Given the description of an element on the screen output the (x, y) to click on. 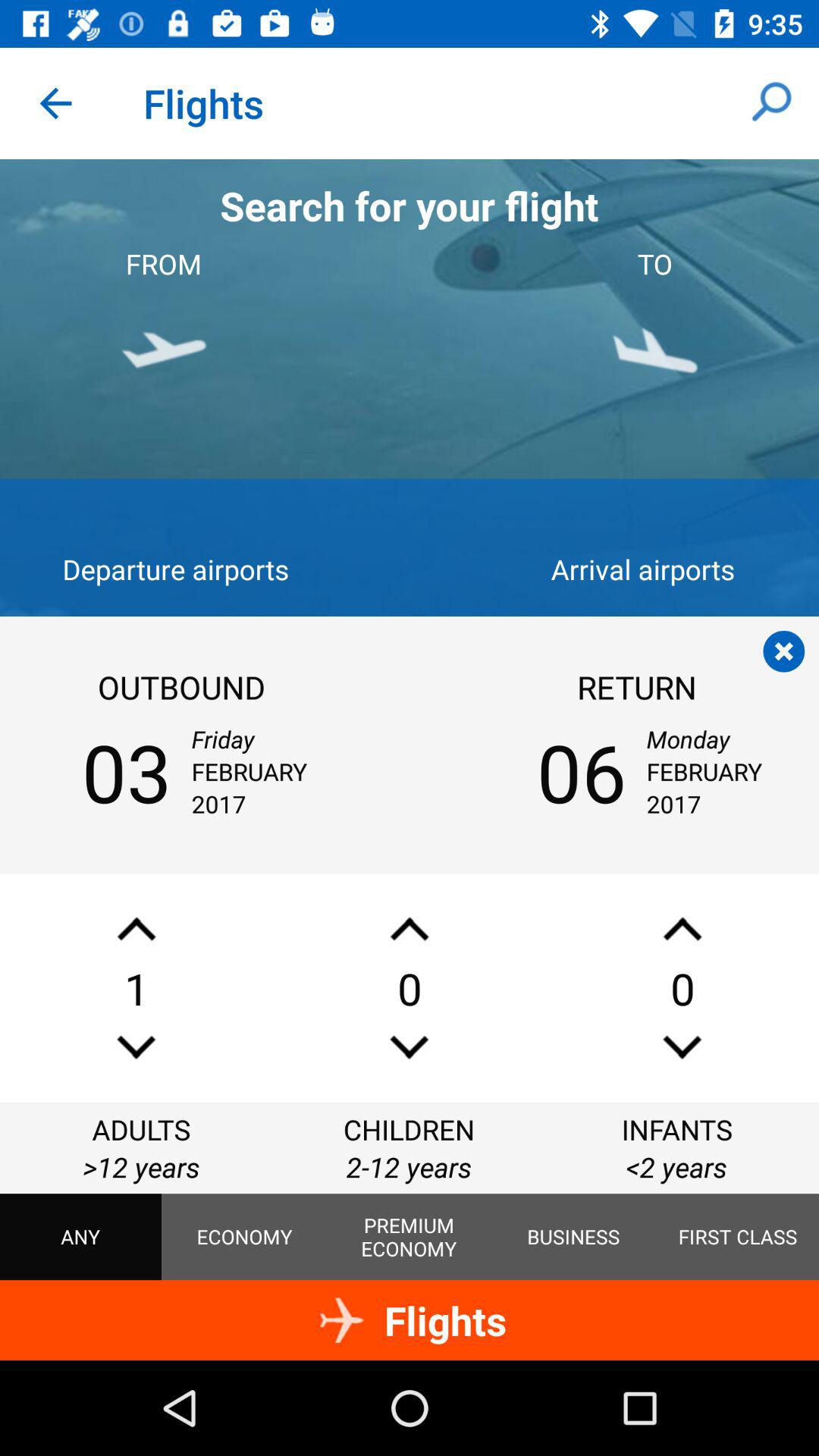
increase number (136, 928)
